Given the description of an element on the screen output the (x, y) to click on. 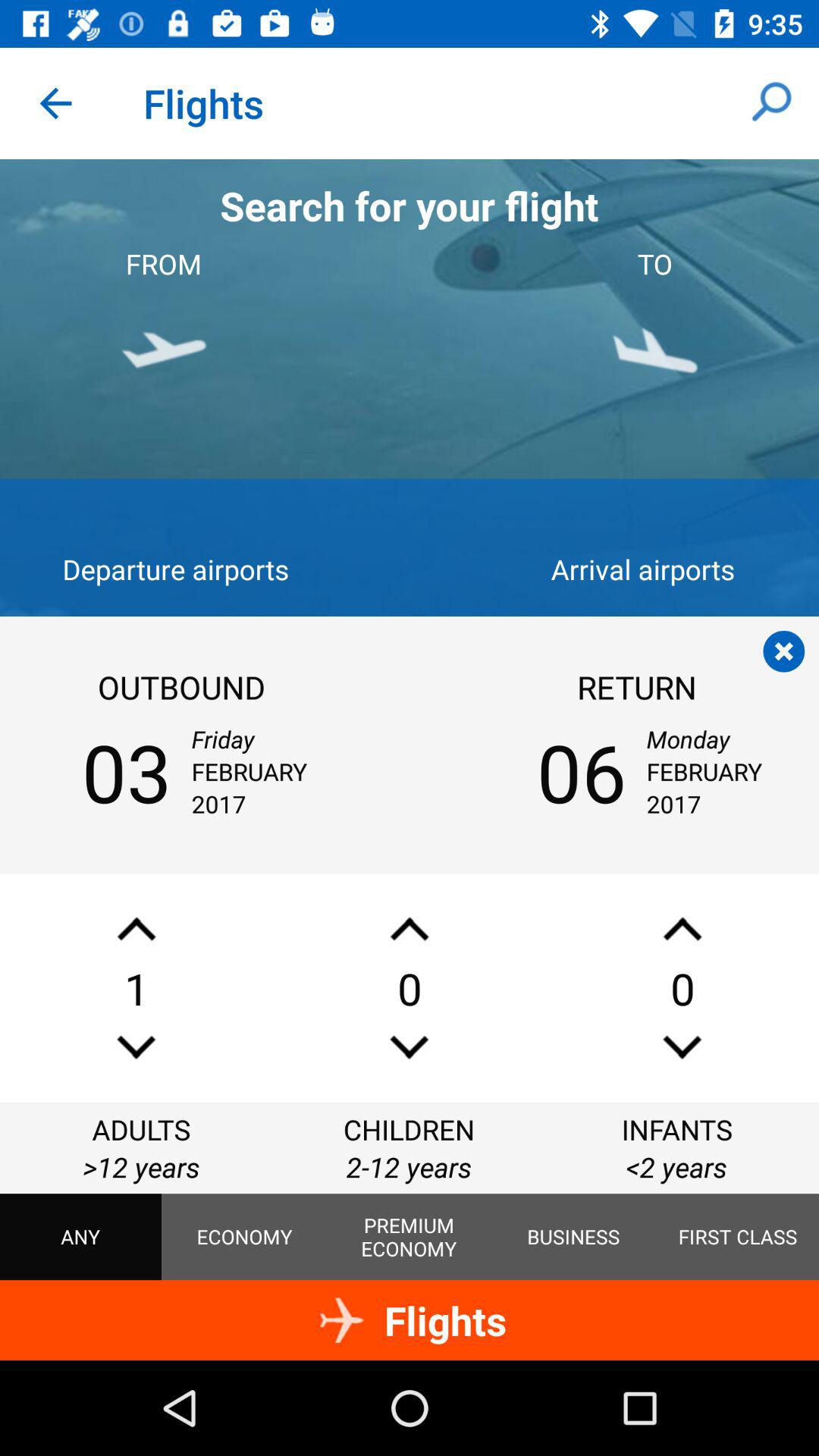
increase number (136, 928)
